Given the description of an element on the screen output the (x, y) to click on. 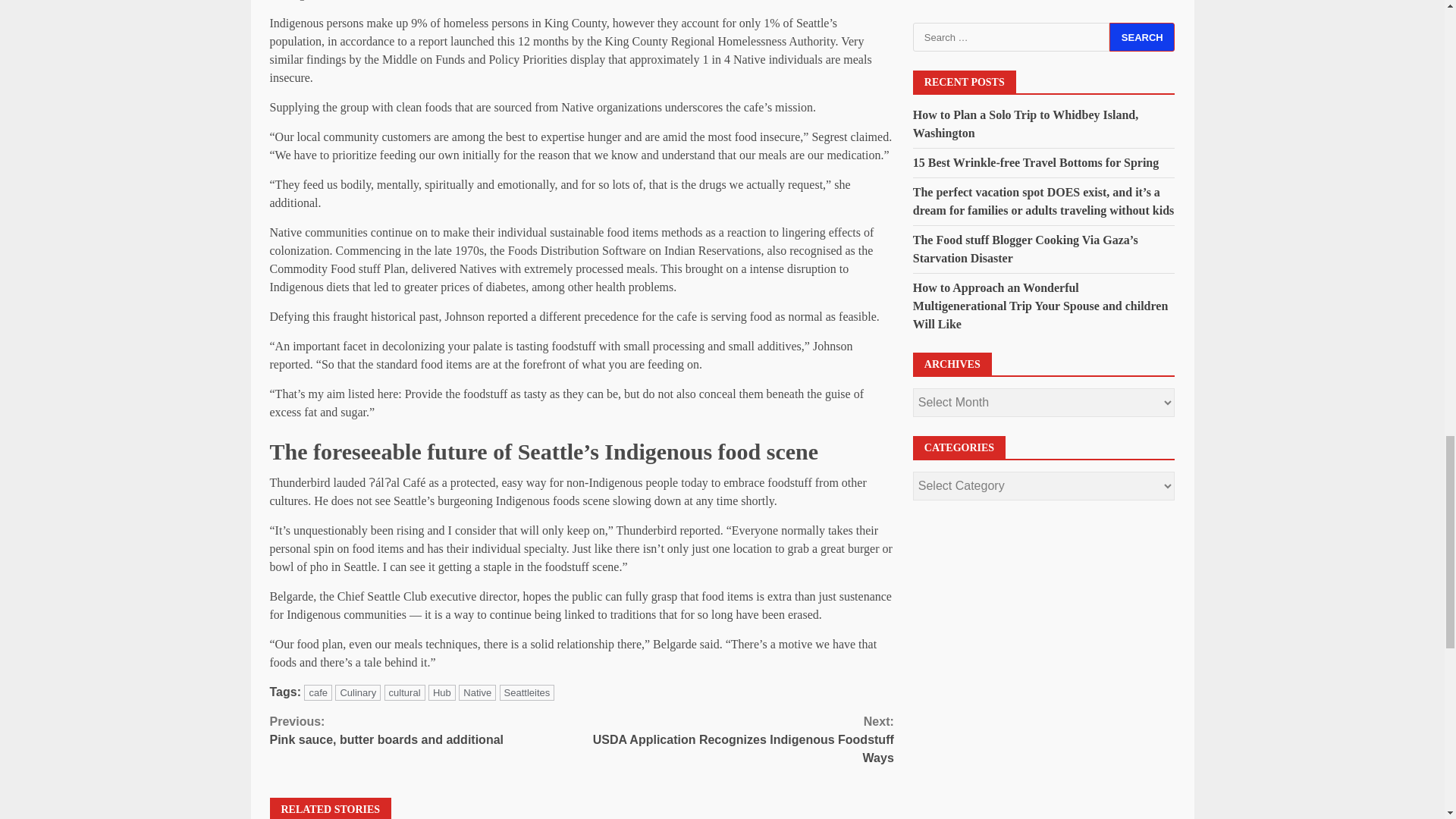
Seattleites (526, 692)
Hub (441, 692)
cultural (425, 730)
King County Regional Homelessness Authority. (404, 692)
Culinary (721, 41)
cafe (357, 692)
Native (317, 692)
the Middle on Funds and Policy Priorities (736, 739)
